Given the description of an element on the screen output the (x, y) to click on. 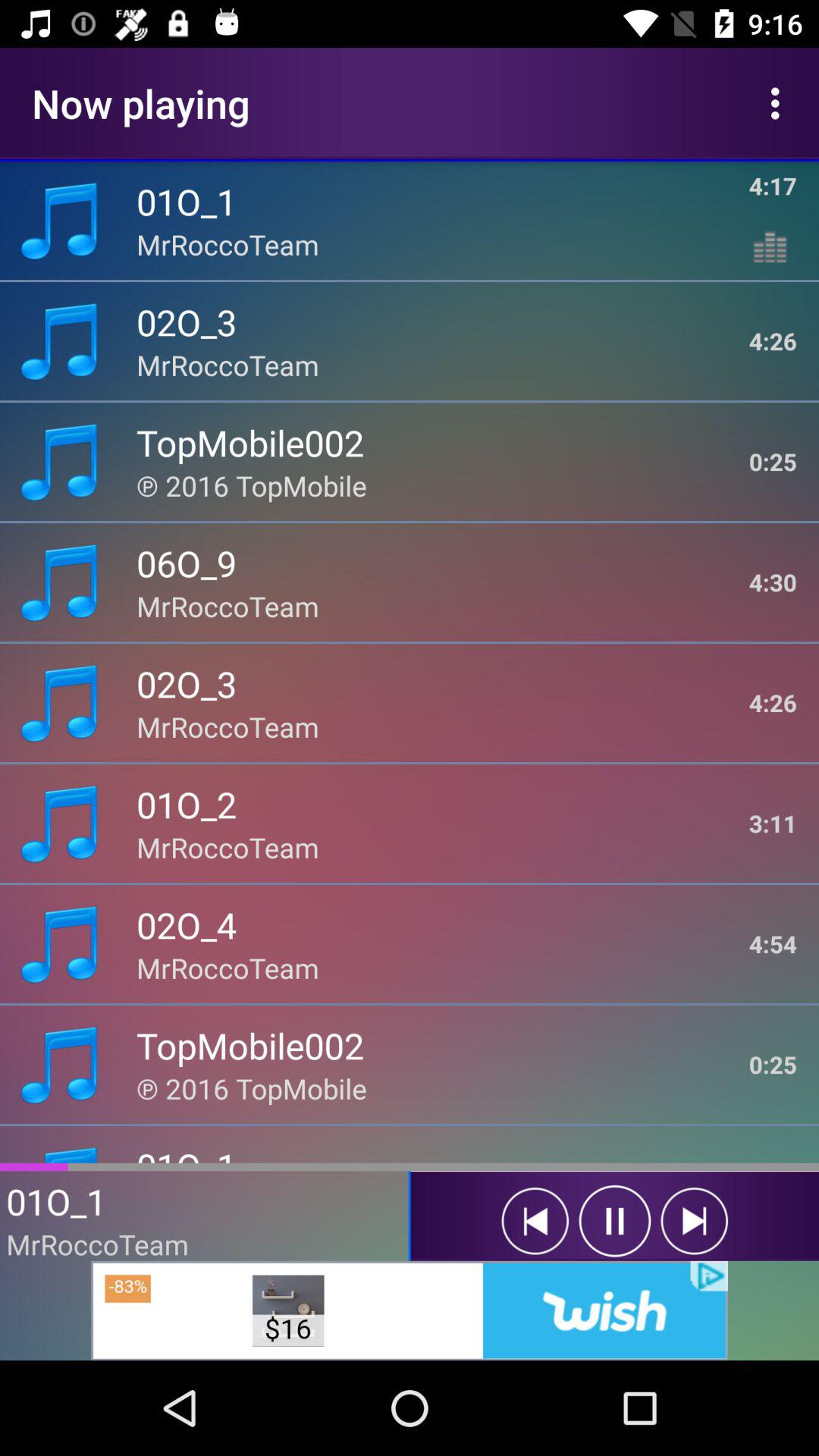
pause this audio (614, 1220)
